Given the description of an element on the screen output the (x, y) to click on. 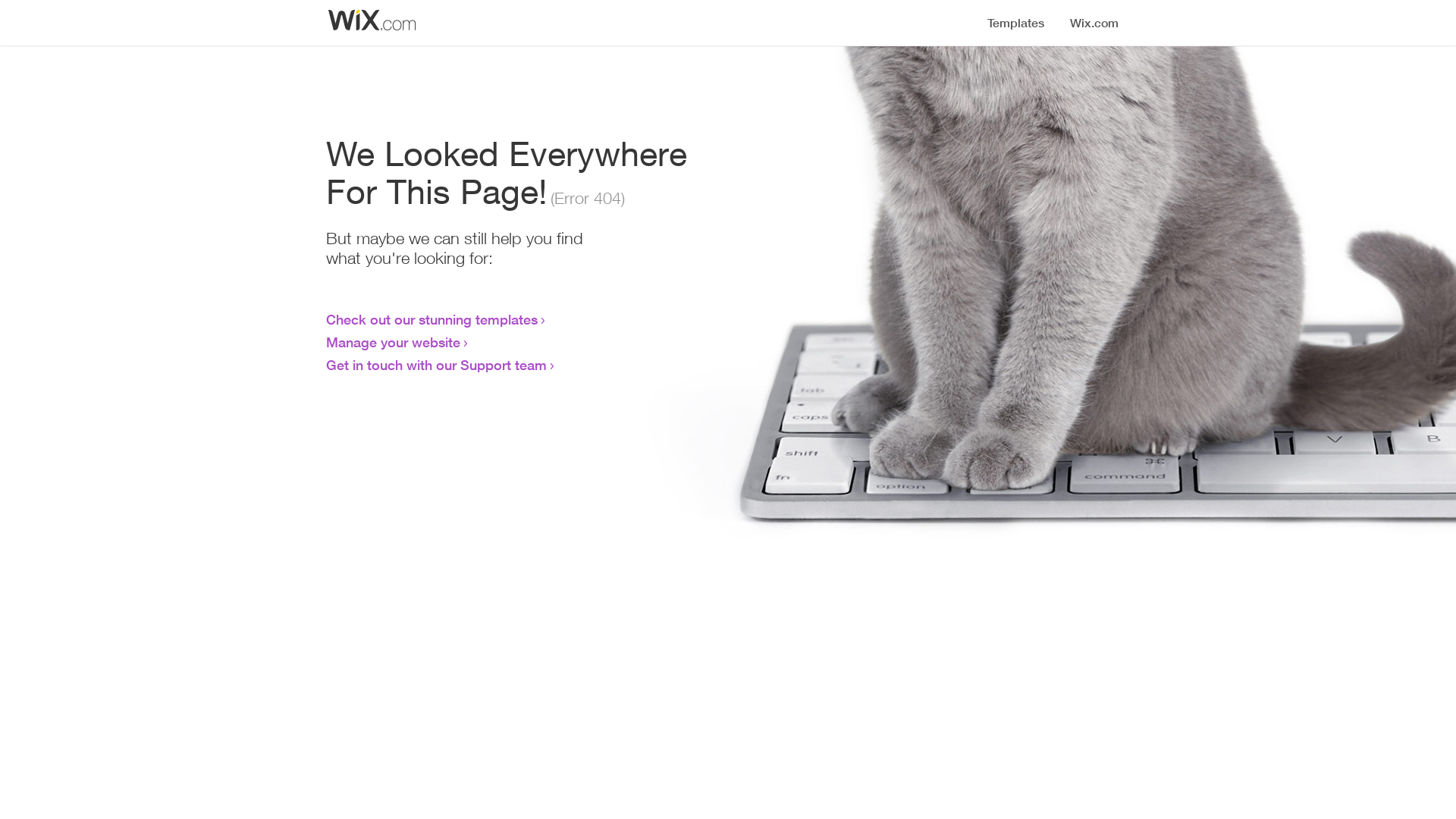
Check out our stunning templates Element type: text (431, 318)
Manage your website Element type: text (393, 341)
Get in touch with our Support team Element type: text (436, 364)
